Given the description of an element on the screen output the (x, y) to click on. 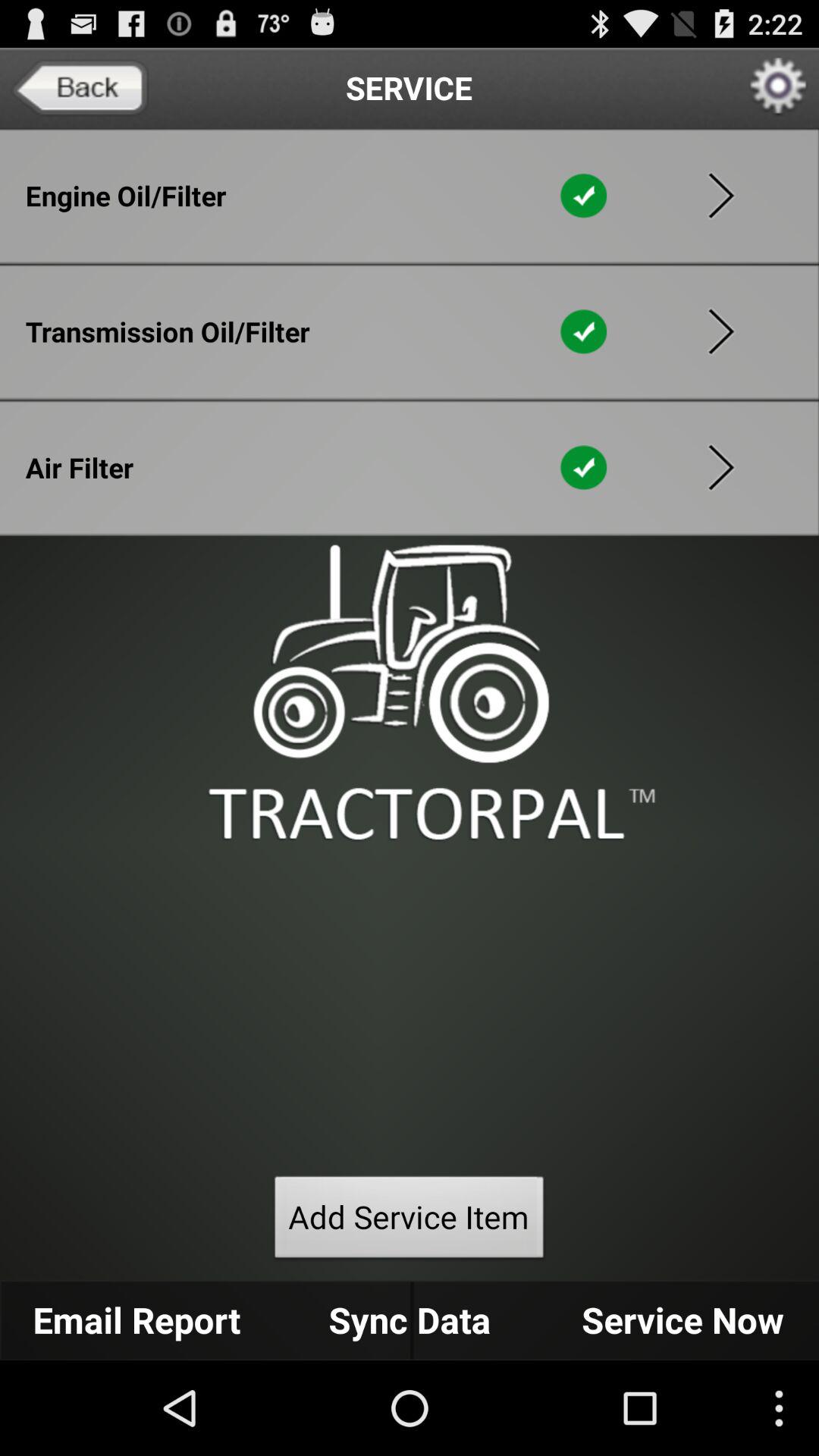
go to previous (721, 331)
